Given the description of an element on the screen output the (x, y) to click on. 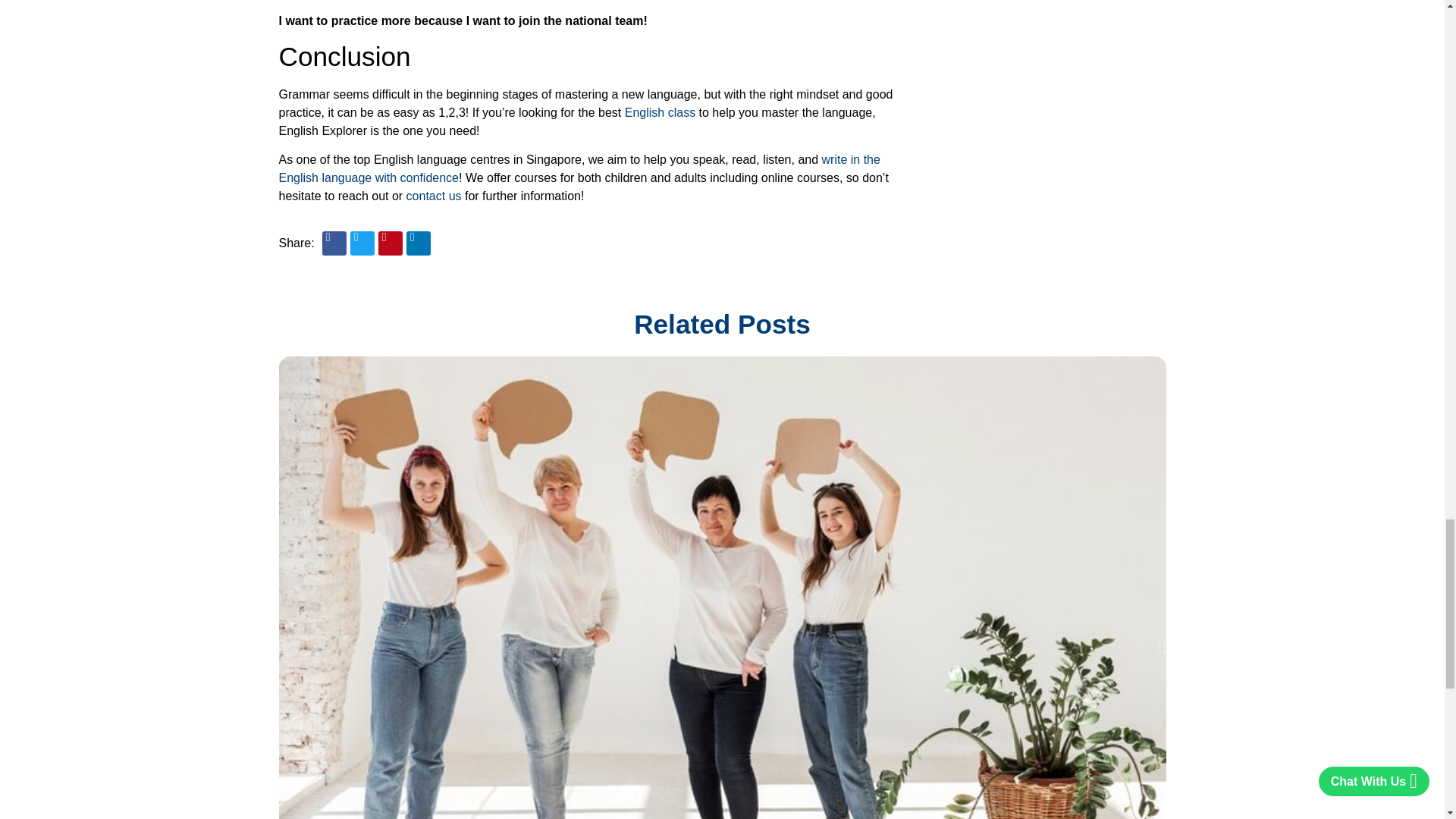
4 Effective Ways To Help You Improve Your Written English (579, 168)
English Class Singapore (659, 112)
